Given the description of an element on the screen output the (x, y) to click on. 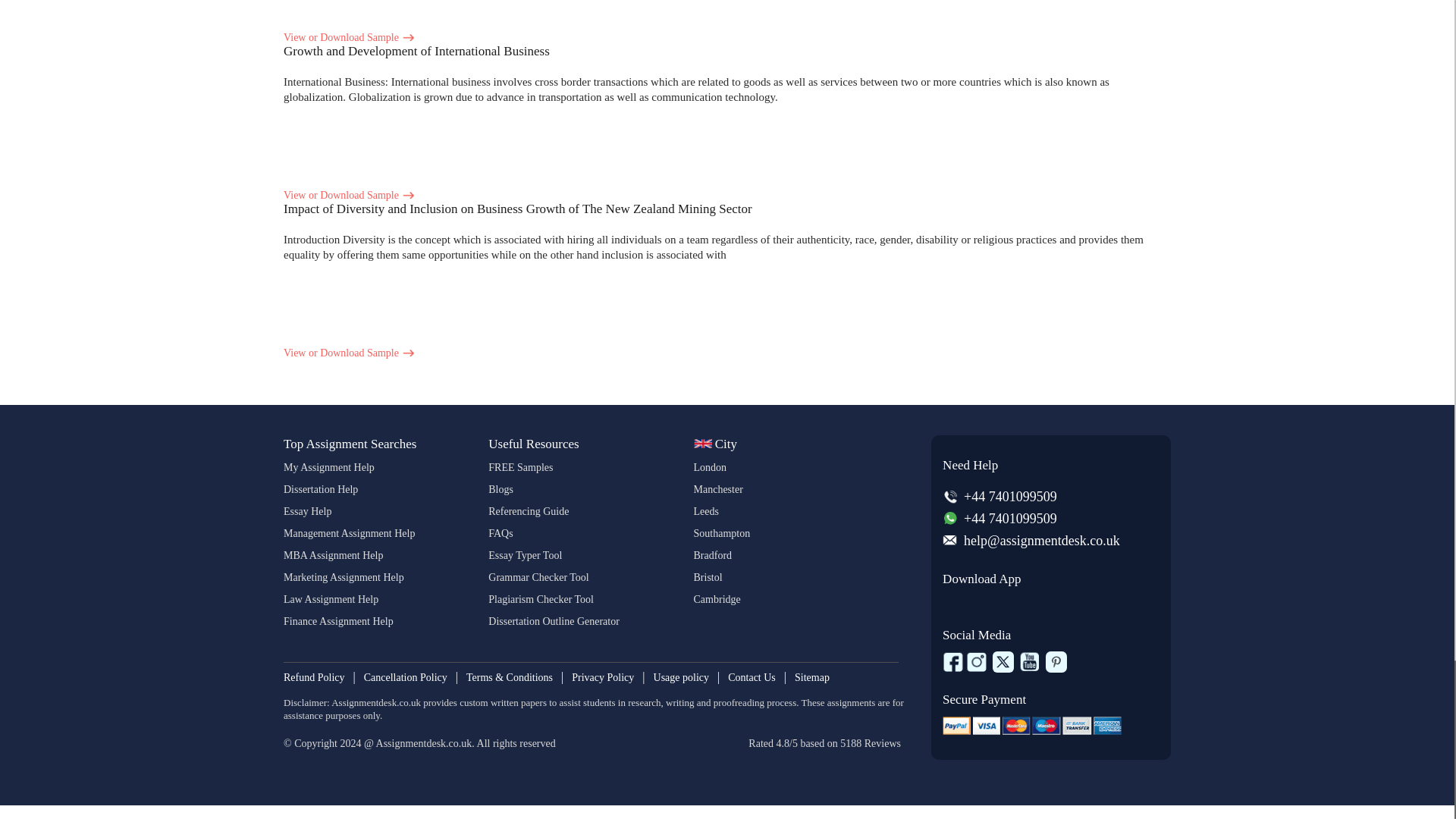
DMCA.com Protection Status (362, 767)
